Given the description of an element on the screen output the (x, y) to click on. 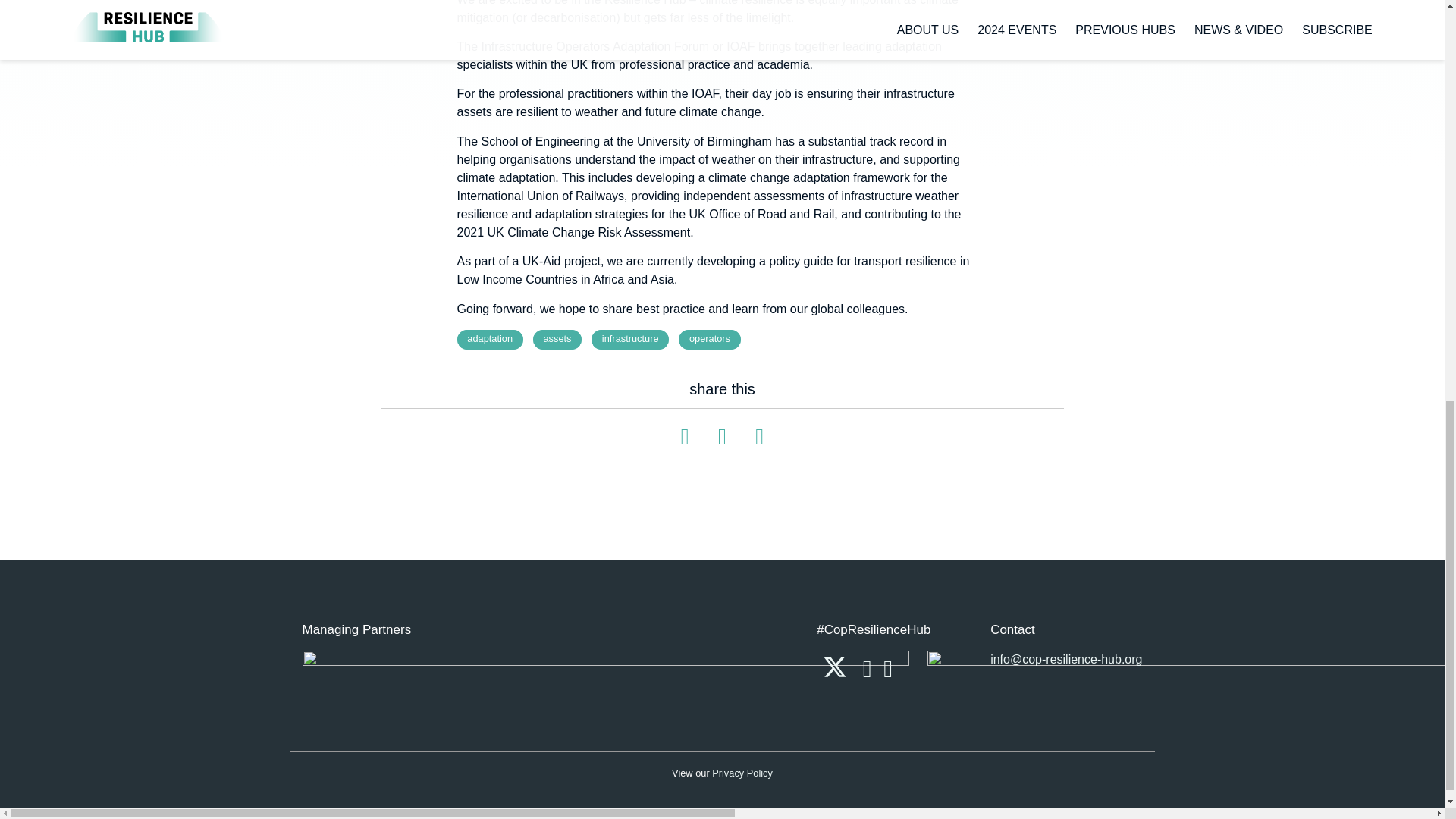
GRP (1191, 661)
assets (557, 340)
operators (709, 340)
infrastructure (629, 340)
adaptation (489, 340)
AARFRC (604, 661)
